Given the description of an element on the screen output the (x, y) to click on. 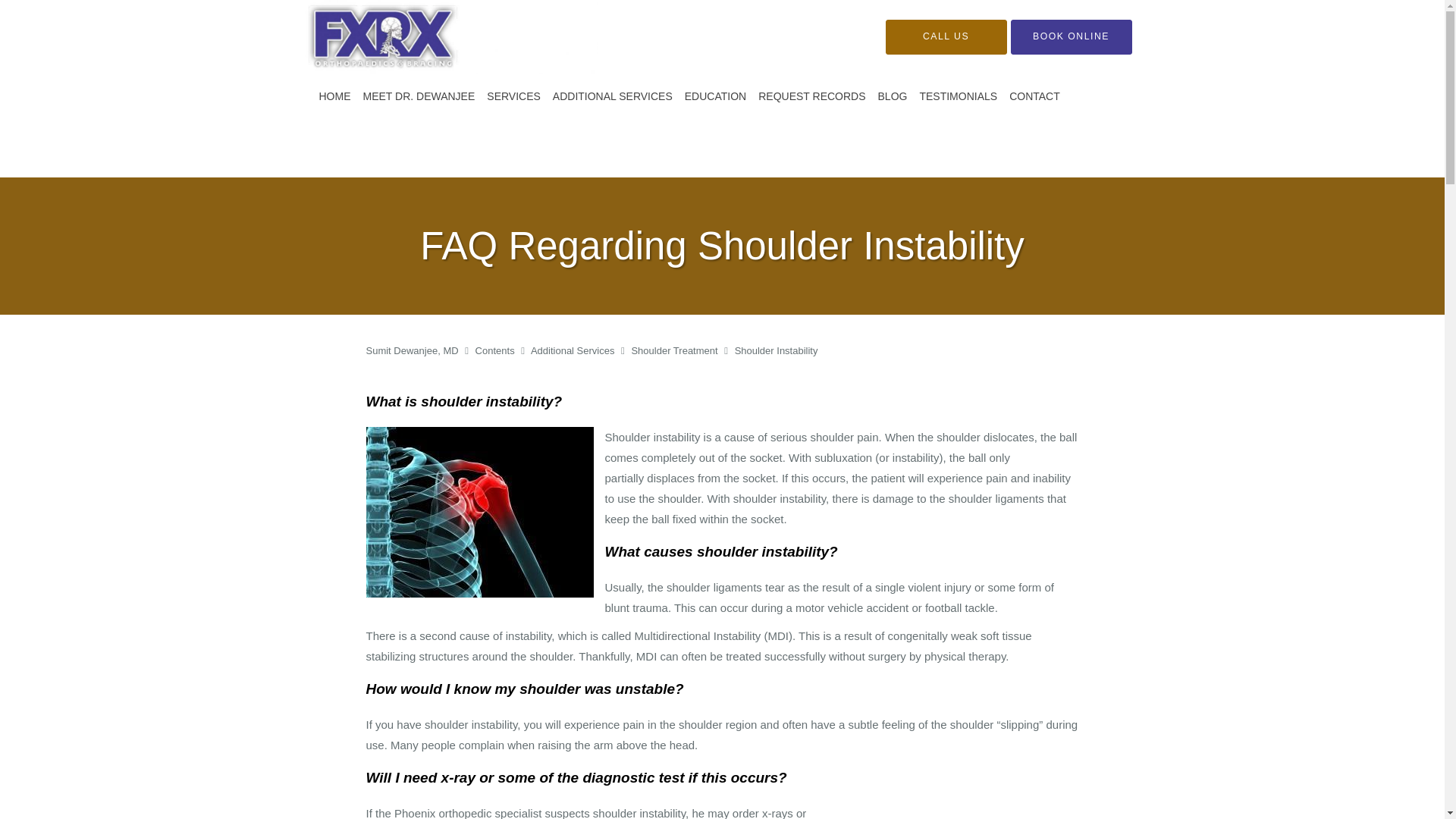
MEET DR. DEWANJEE (418, 95)
BOOK ONLINE (1070, 36)
Sumit Dewanjee, MD (413, 350)
Shoulder Instability (776, 350)
CALL US (946, 36)
Contents (497, 350)
REQUEST RECORDS (811, 95)
CONTACT (1034, 95)
Additional Services (574, 350)
Shoulder Treatment (675, 350)
